Given the description of an element on the screen output the (x, y) to click on. 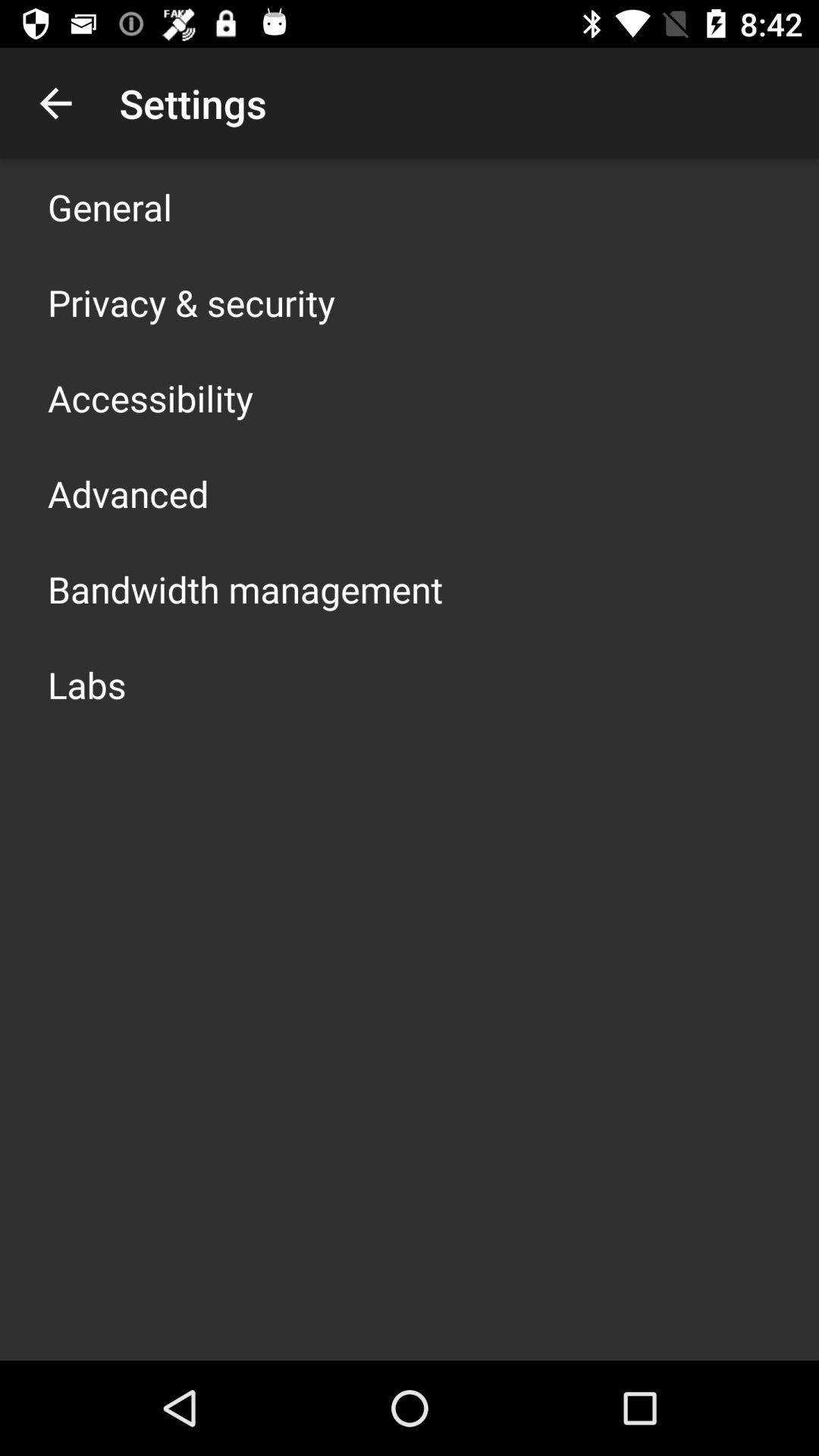
tap the advanced item (127, 493)
